Given the description of an element on the screen output the (x, y) to click on. 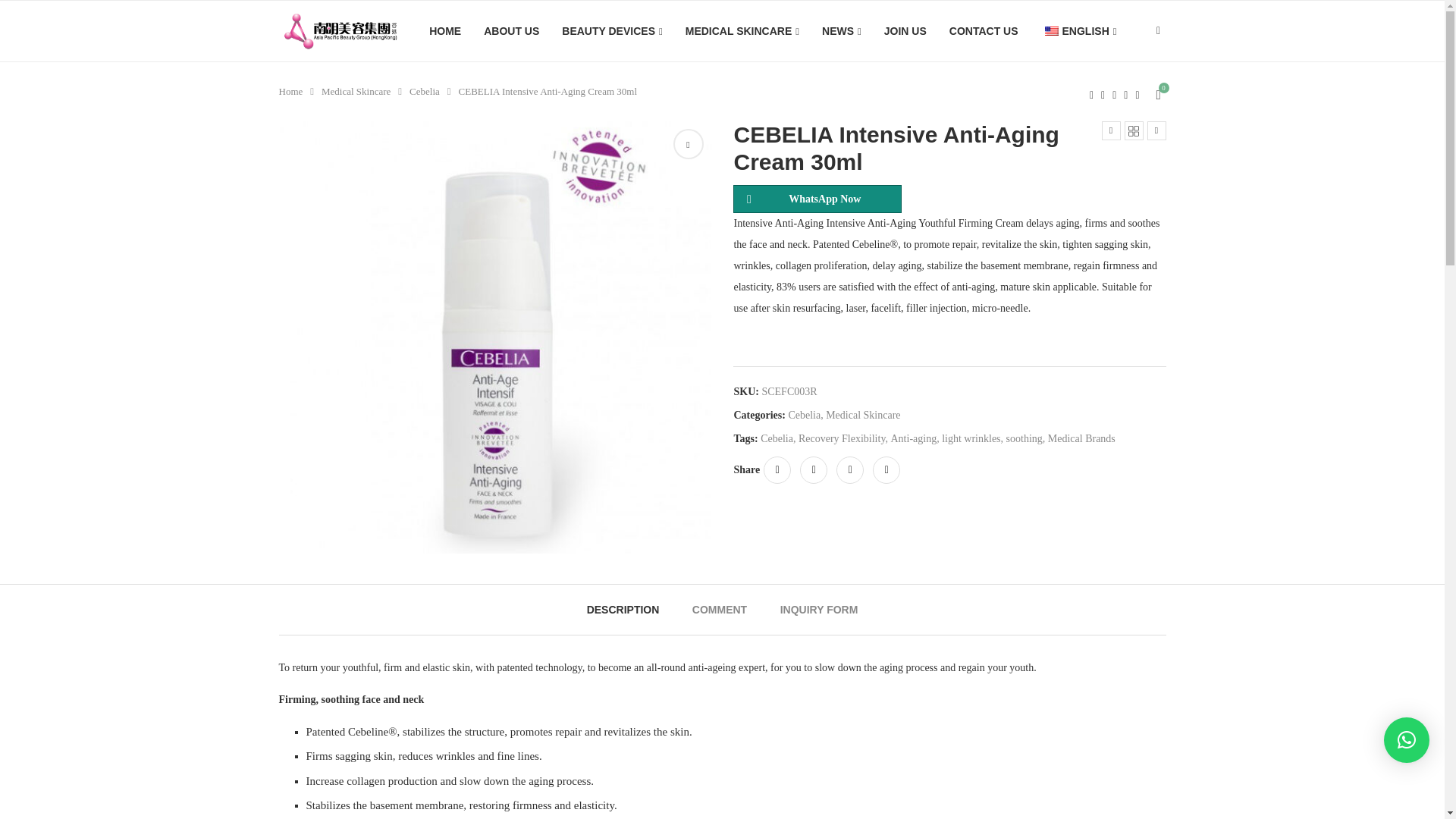
Home (290, 91)
Medical Skincare (355, 91)
ABOUT US (510, 30)
MEDICAL SKINCARE (742, 31)
ENGLISH (1078, 31)
English (1051, 31)
CONTACT US (983, 30)
BEAUTY DEVICES (612, 31)
